Given the description of an element on the screen output the (x, y) to click on. 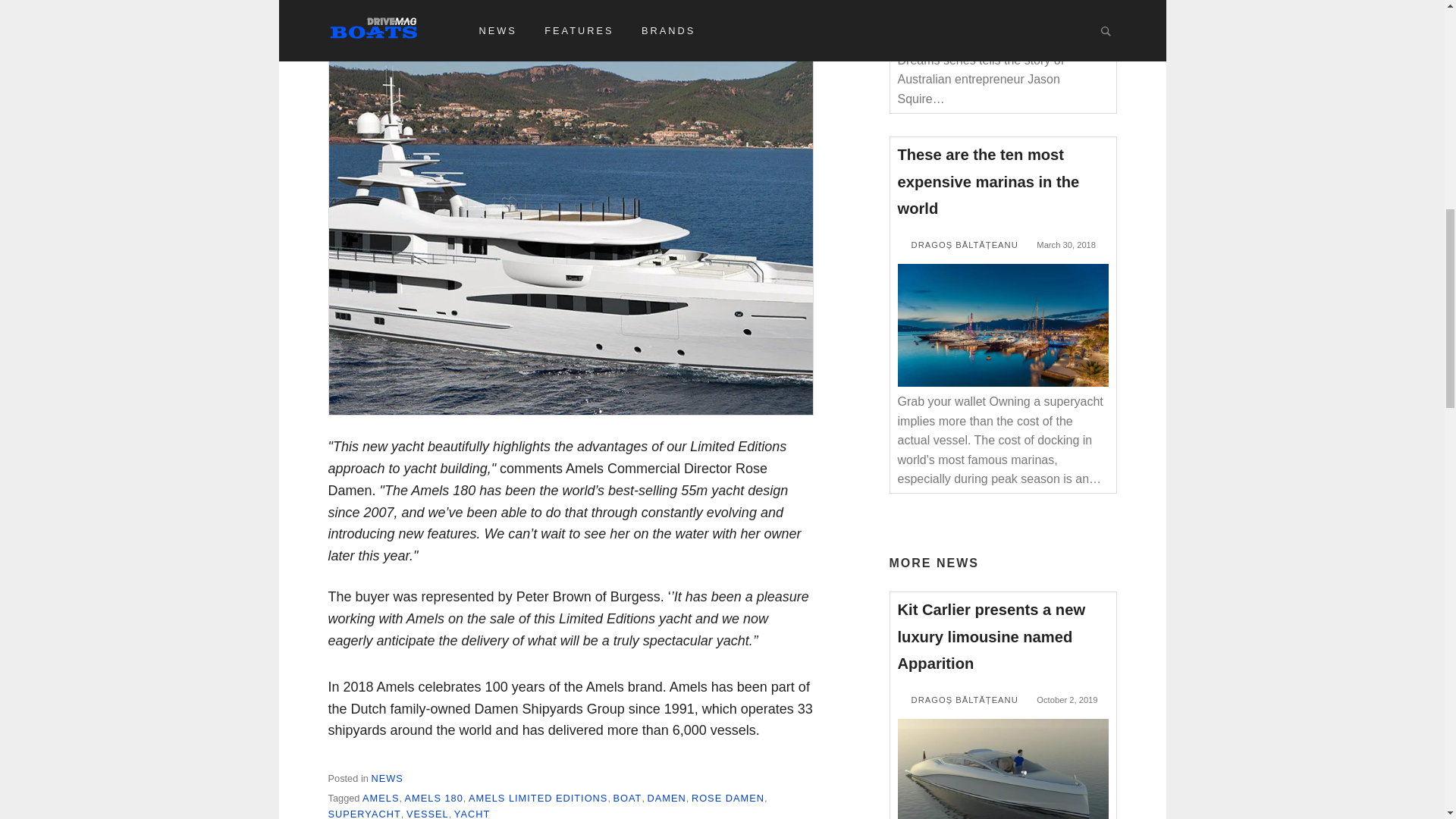
BOAT (627, 797)
AMELS LIMITED EDITIONS (537, 797)
YACHT (471, 813)
NEWS (387, 778)
DAMEN (666, 797)
ROSE DAMEN (727, 797)
VESSEL (427, 813)
These are the ten most expensive marinas in the world (989, 181)
AMELS 180 (433, 797)
SUPERYACHT (363, 813)
AMELS (380, 797)
